Given the description of an element on the screen output the (x, y) to click on. 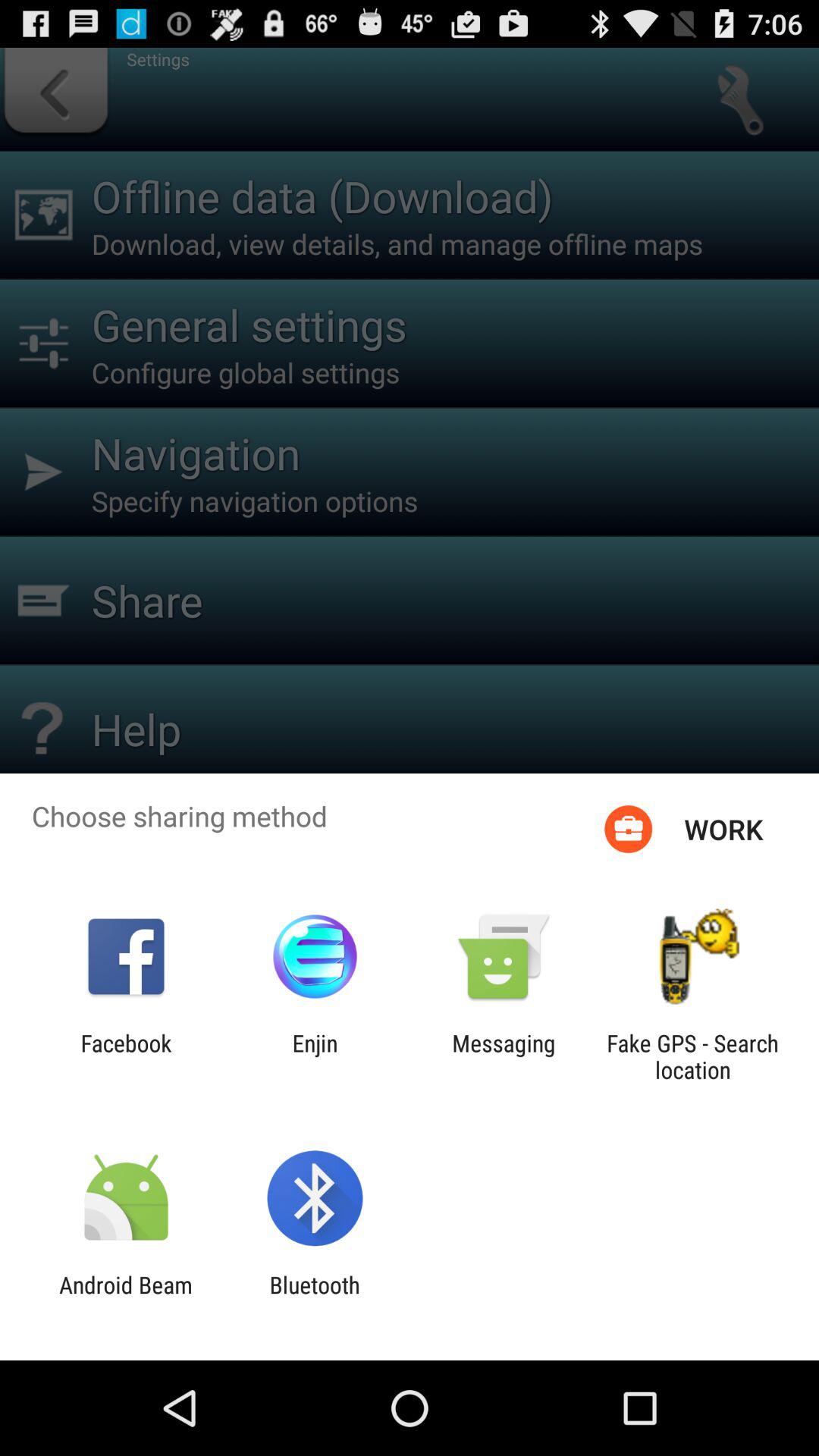
turn off item to the left of the bluetooth (125, 1298)
